Given the description of an element on the screen output the (x, y) to click on. 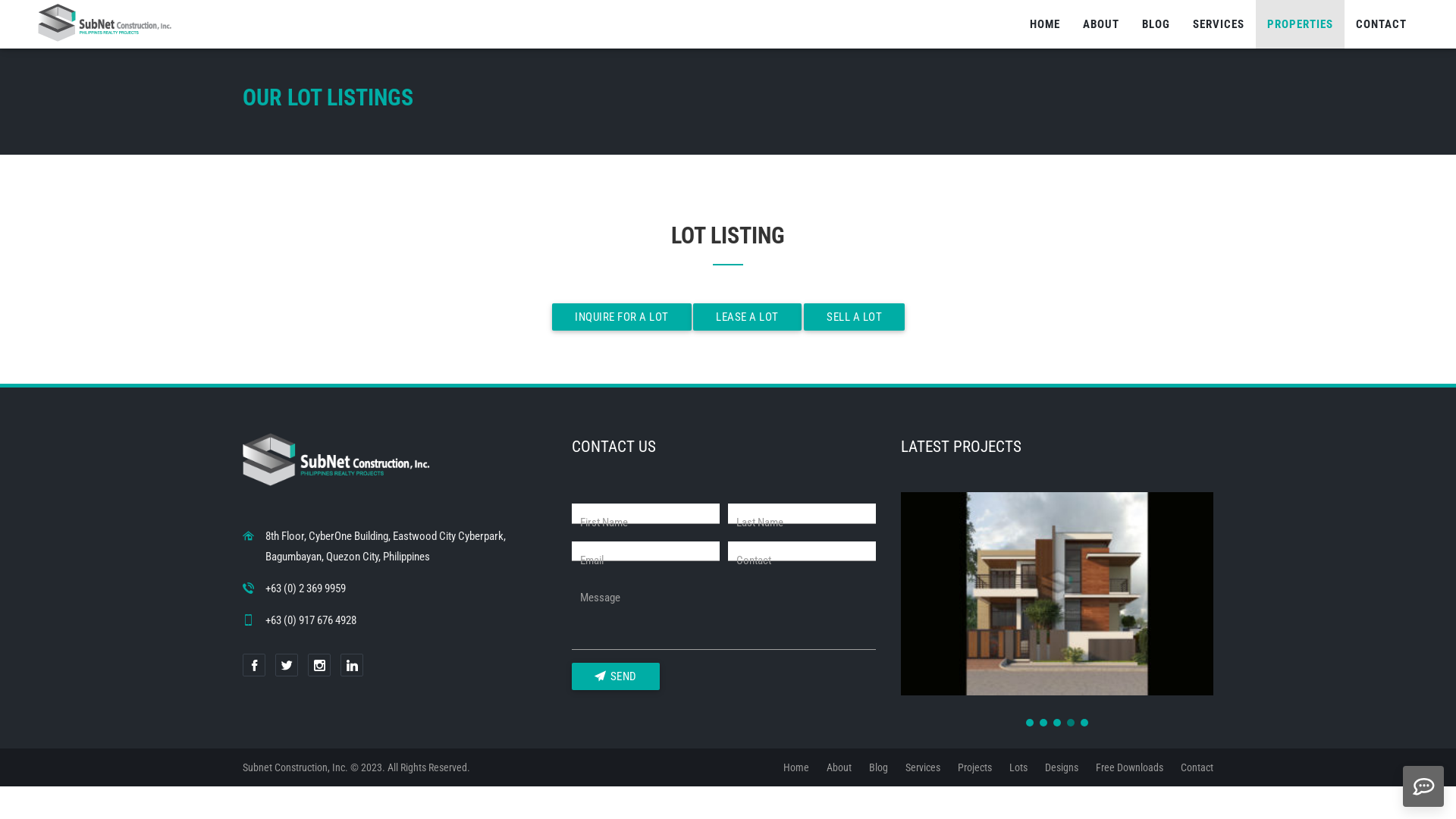
About Element type: text (838, 767)
Contact Element type: text (1196, 767)
Services Element type: text (922, 767)
LEASE A LOT Element type: text (747, 316)
INQUIRE FOR A LOT Element type: text (621, 316)
SERVICES Element type: text (1218, 24)
SEND Element type: text (615, 676)
Free Downloads Element type: text (1129, 767)
HOME Element type: text (1044, 24)
CONTACT Element type: text (1381, 24)
BLOG Element type: text (1155, 24)
ABOUT Element type: text (1100, 24)
Home Element type: text (796, 767)
PROPERTIES Element type: text (1299, 24)
Lots Element type: text (1018, 767)
Blog Element type: text (878, 767)
SELL A LOT Element type: text (853, 316)
Designs Element type: text (1061, 767)
Projects Element type: text (974, 767)
